Given the description of an element on the screen output the (x, y) to click on. 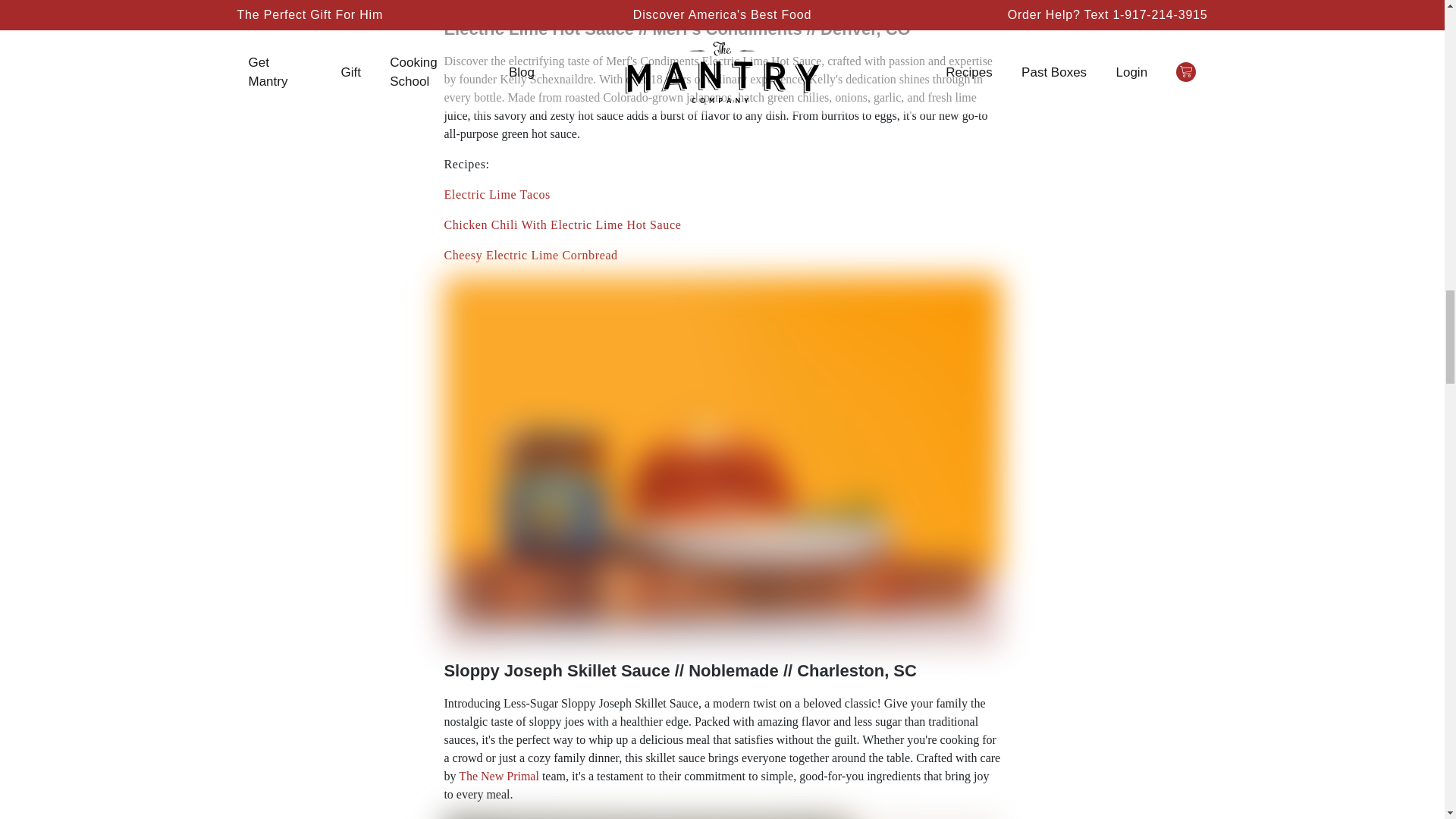
Cheesy Electric Lime Cornbread (530, 255)
The New Primal (498, 775)
Electric Lime Tacos (497, 194)
Chicken Chili With Electric Lime Hot Sauce (562, 225)
